Given the description of an element on the screen output the (x, y) to click on. 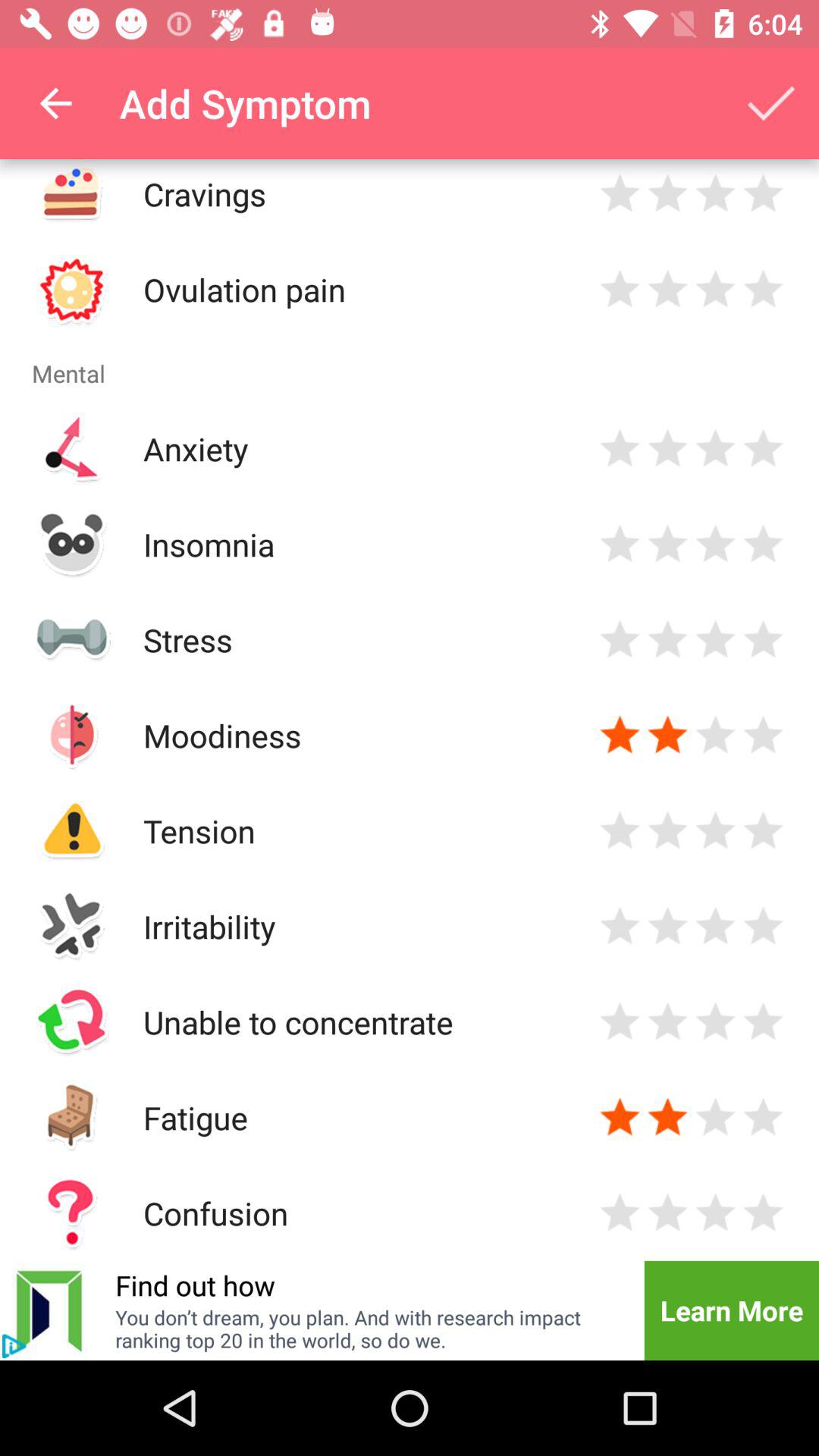
rate 1 star (619, 735)
